Given the description of an element on the screen output the (x, y) to click on. 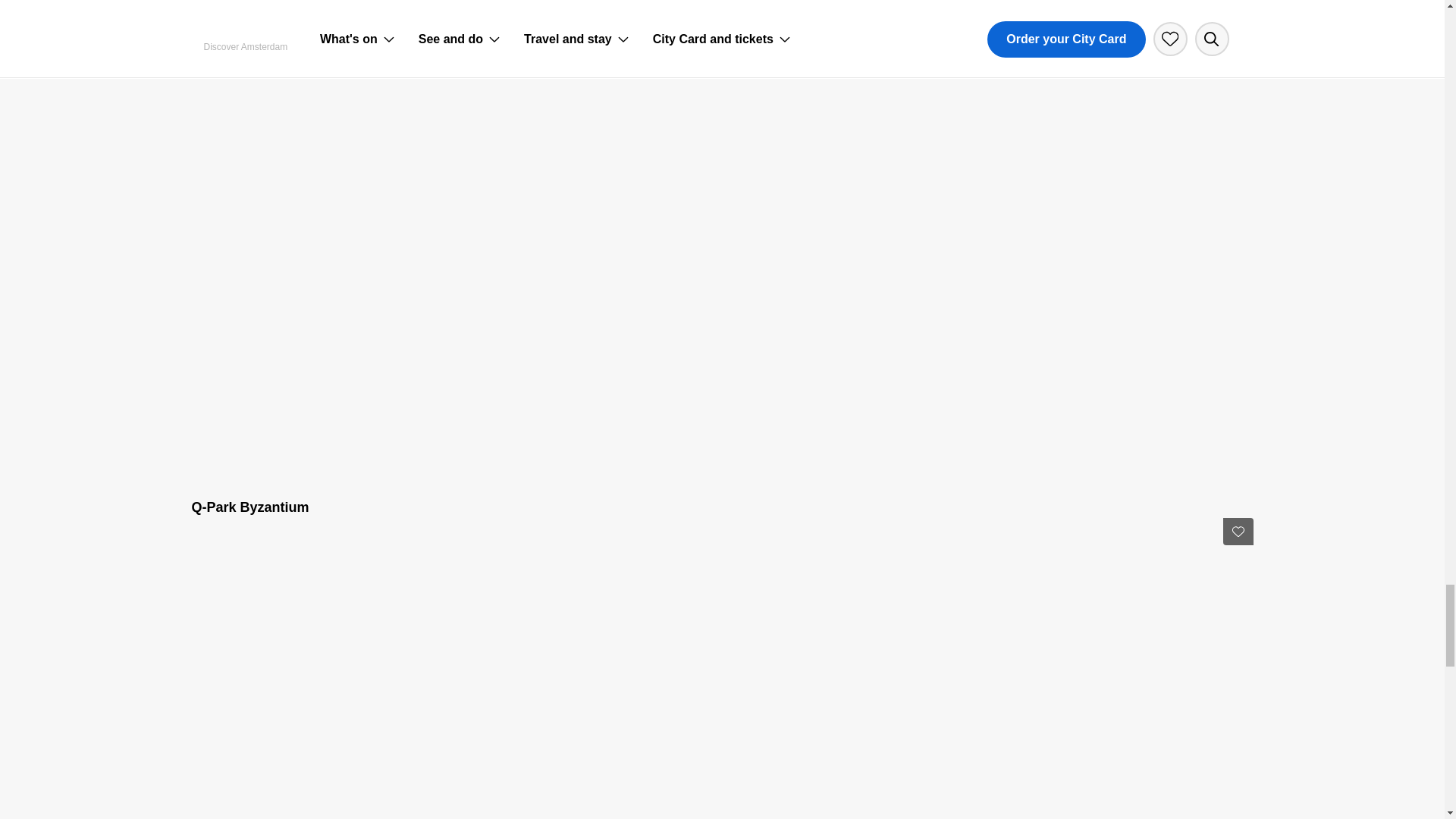
Add to favourites (1237, 531)
